Given the description of an element on the screen output the (x, y) to click on. 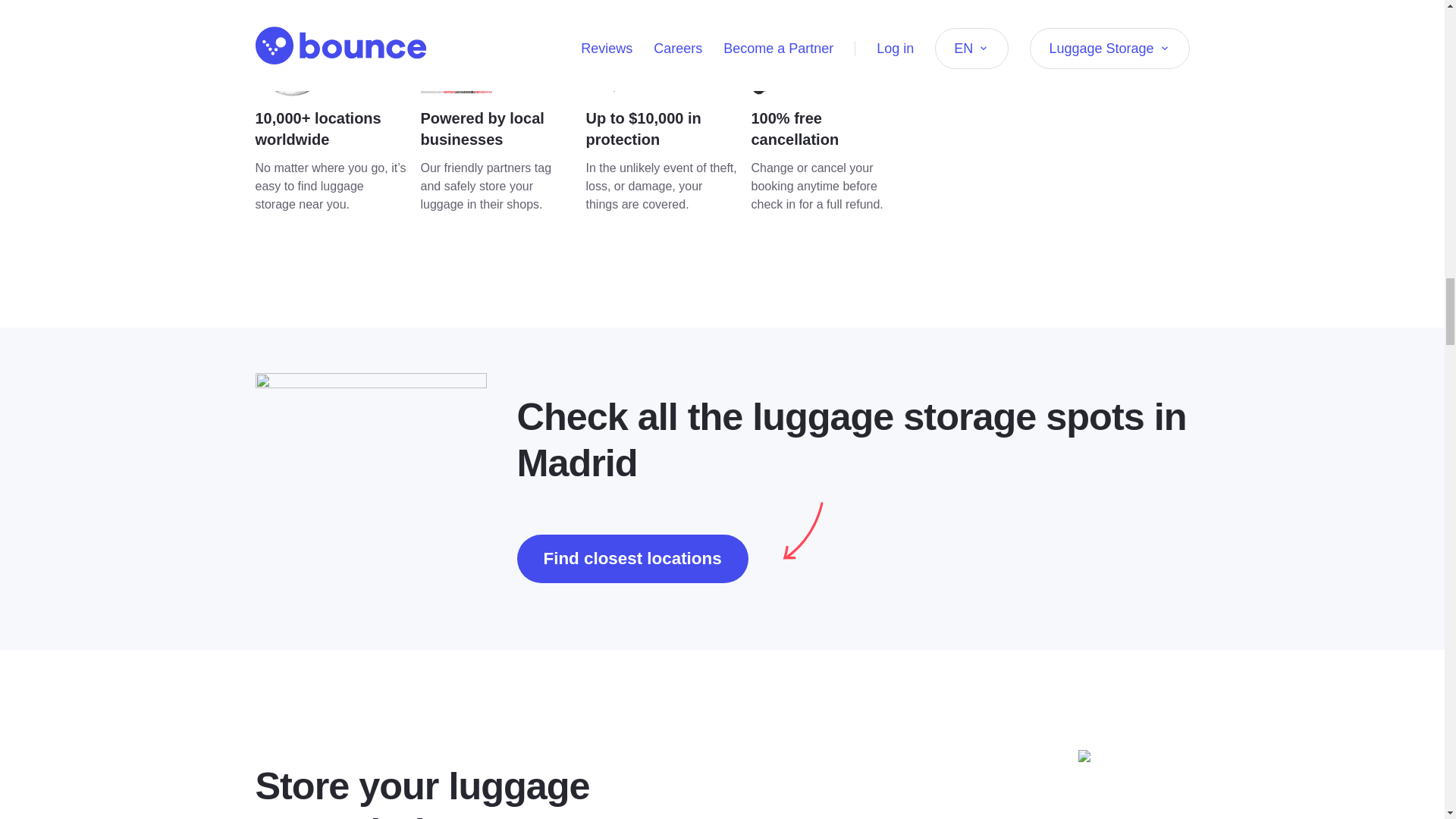
Find closest locations (632, 558)
